Given the description of an element on the screen output the (x, y) to click on. 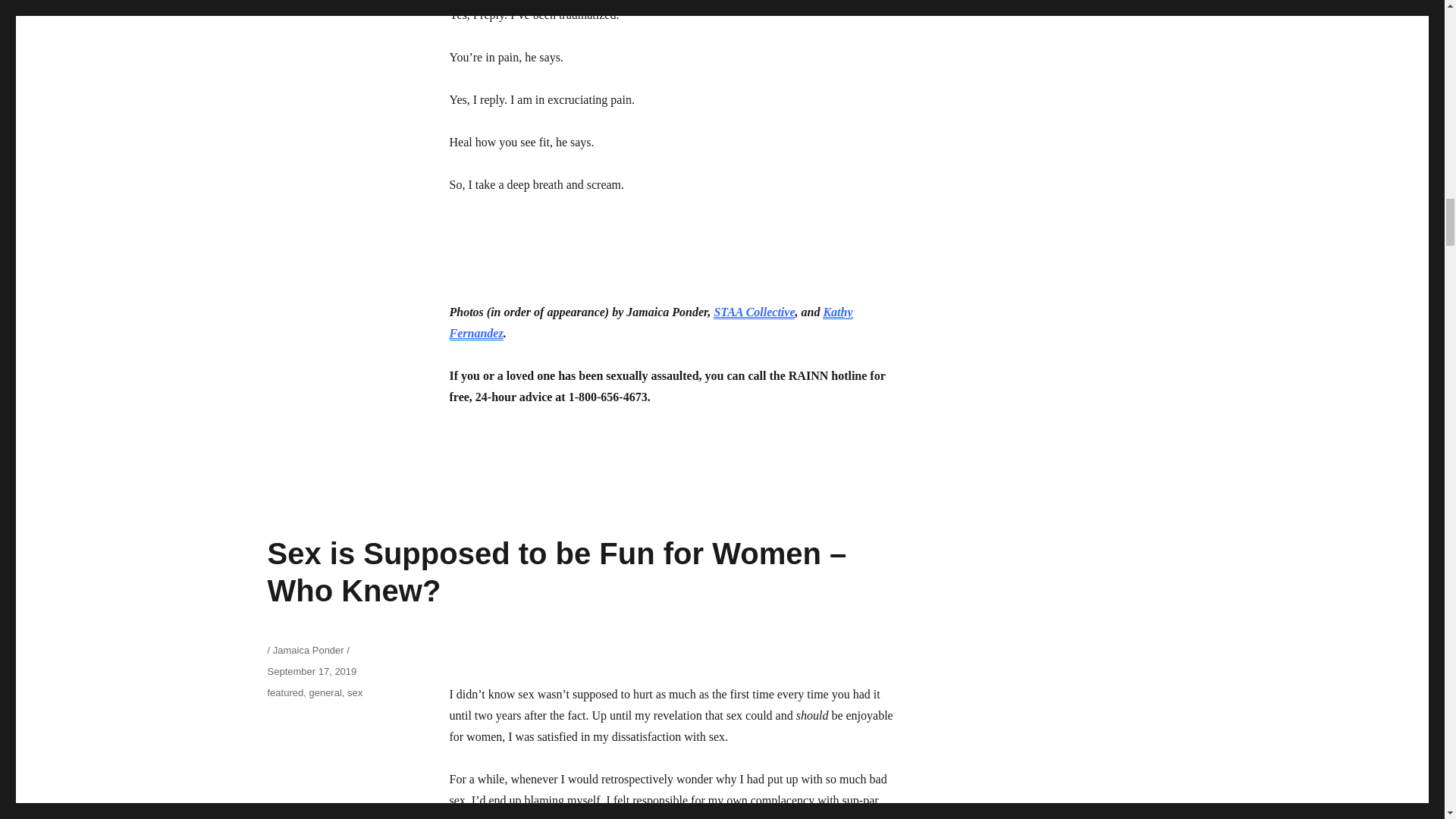
STAA Collective (753, 311)
sex (354, 692)
general (324, 692)
September 17, 2019 (311, 671)
Kathy Fernandez (649, 322)
featured (284, 692)
